Given the description of an element on the screen output the (x, y) to click on. 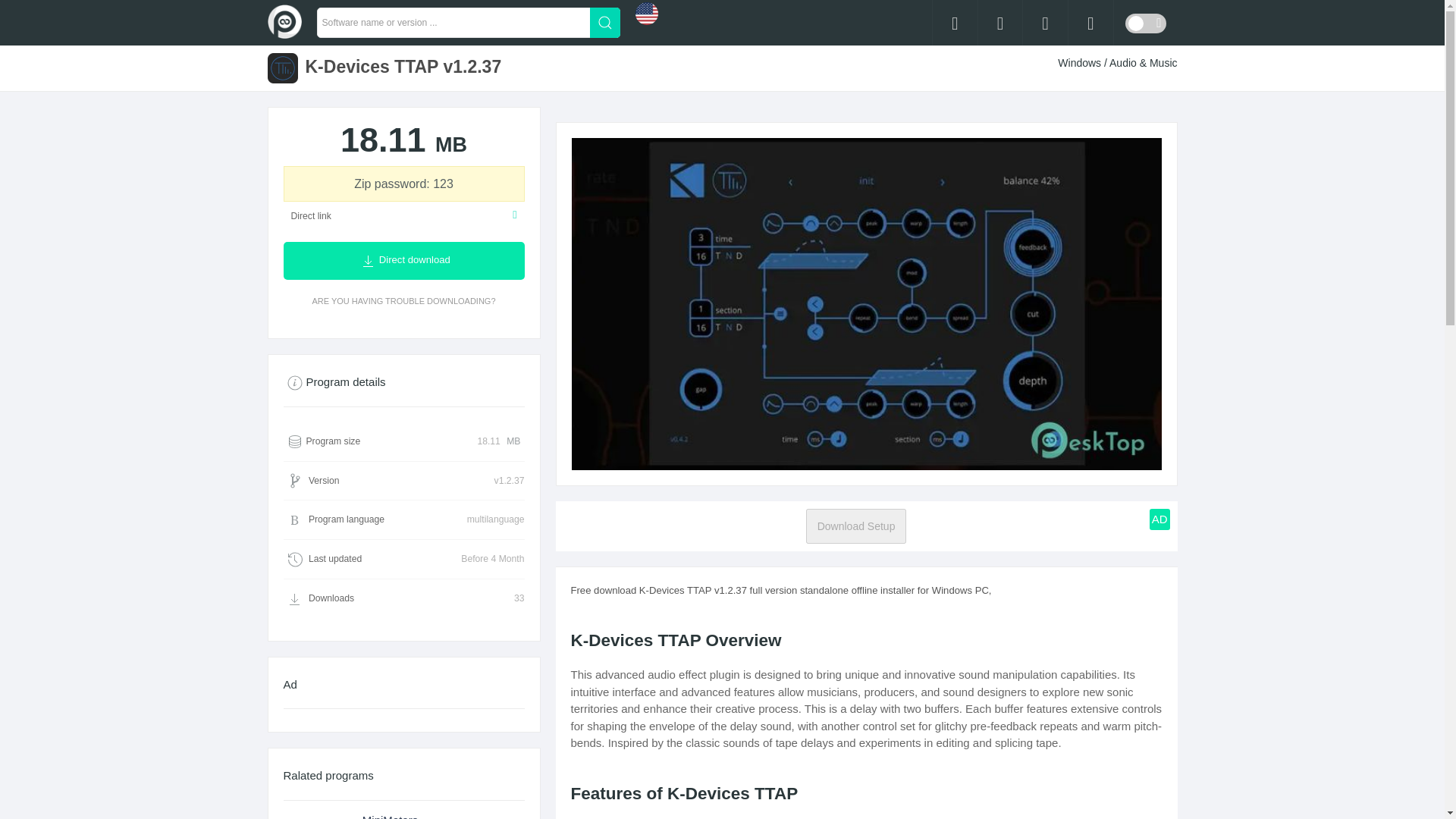
Direct download (403, 260)
Download Setup (856, 525)
MiniMeters (403, 809)
Download Setup (856, 525)
ARE YOU HAVING TROUBLE DOWNLOADING? (403, 300)
Windows (1080, 62)
